Given the description of an element on the screen output the (x, y) to click on. 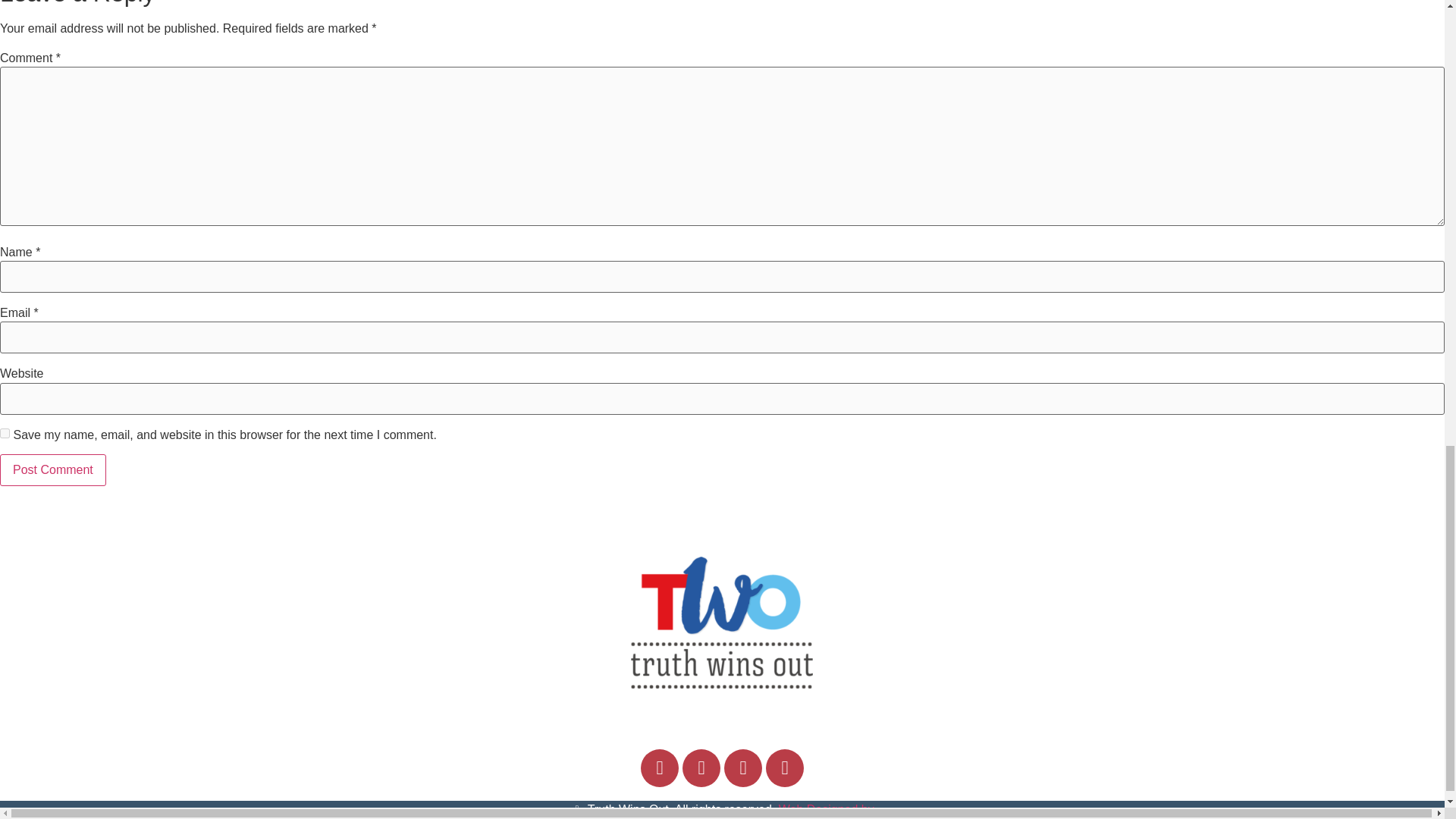
Post Comment (53, 470)
Post Comment (53, 470)
yes (5, 433)
